Given the description of an element on the screen output the (x, y) to click on. 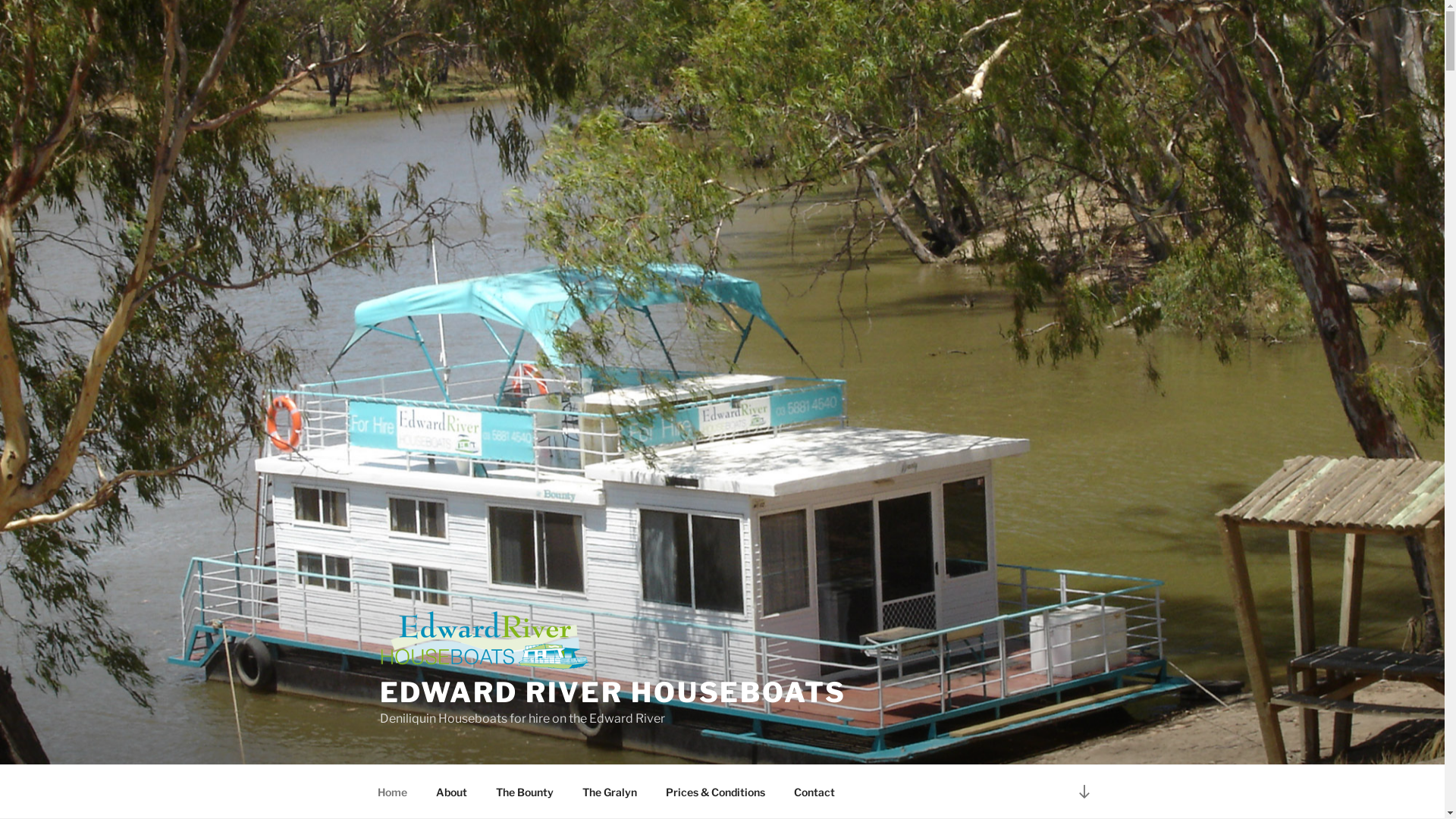
Home Element type: text (392, 791)
The Gralyn Element type: text (608, 791)
About Element type: text (451, 791)
Scroll down to content Element type: text (1083, 790)
Contact Element type: text (814, 791)
Skip to content Element type: text (0, 0)
Prices & Conditions Element type: text (715, 791)
EDWARD RIVER HOUSEBOATS Element type: text (612, 692)
The Bounty Element type: text (524, 791)
